Given the description of an element on the screen output the (x, y) to click on. 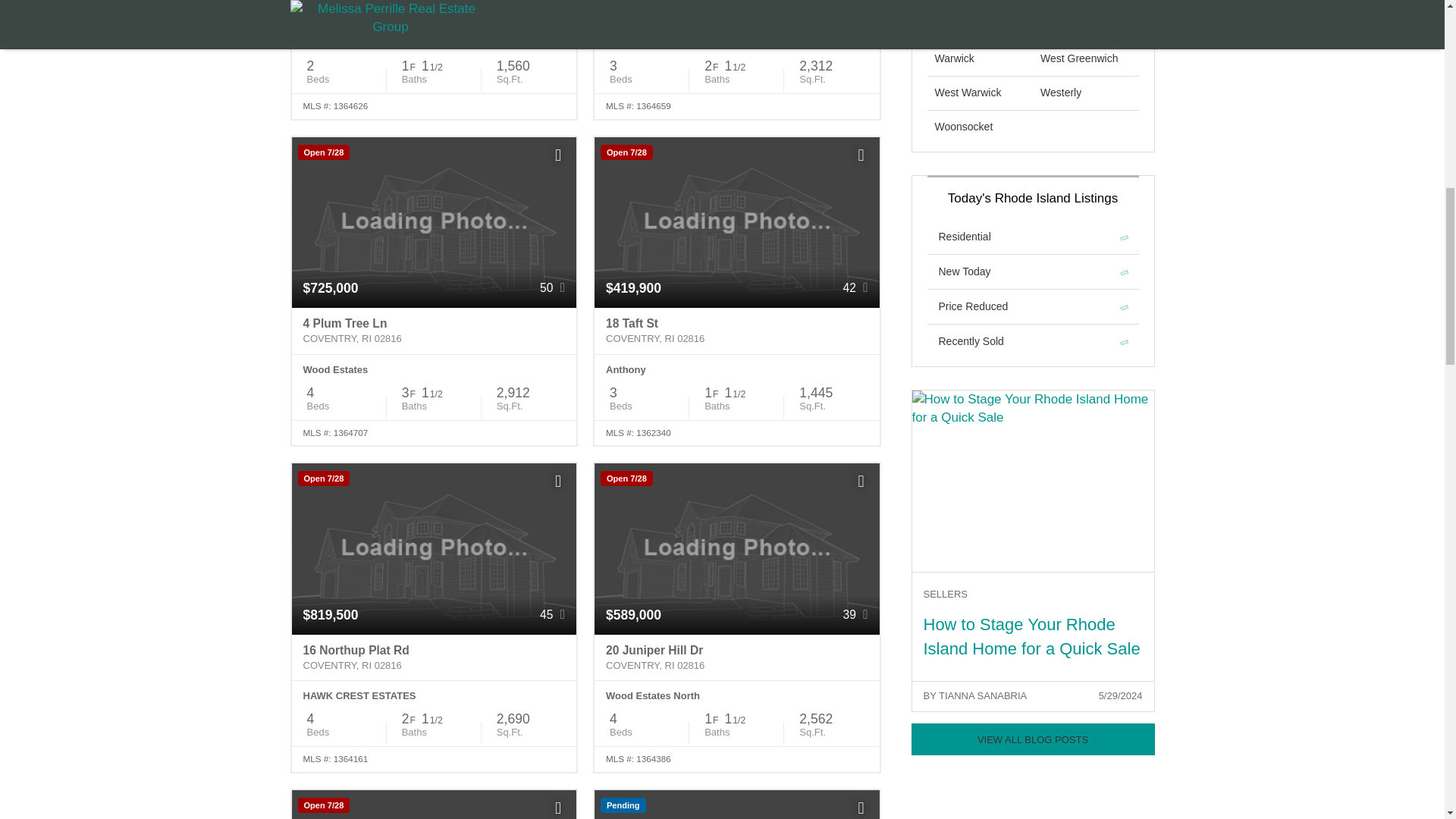
18 Taft St Coventry,  RI 02816 (736, 330)
20 Juniper Hill Dr Coventry,  RI 02816 (736, 657)
20 Harrington Rd Coventry,  RI 02816 (433, 14)
6 Chloe Ct Coventry,  RI 02816 (736, 14)
16 Northup Plat Rd Coventry,  RI 02816 (433, 657)
4 Plum Tree Ln Coventry,  RI 02816 (433, 330)
